Given the description of an element on the screen output the (x, y) to click on. 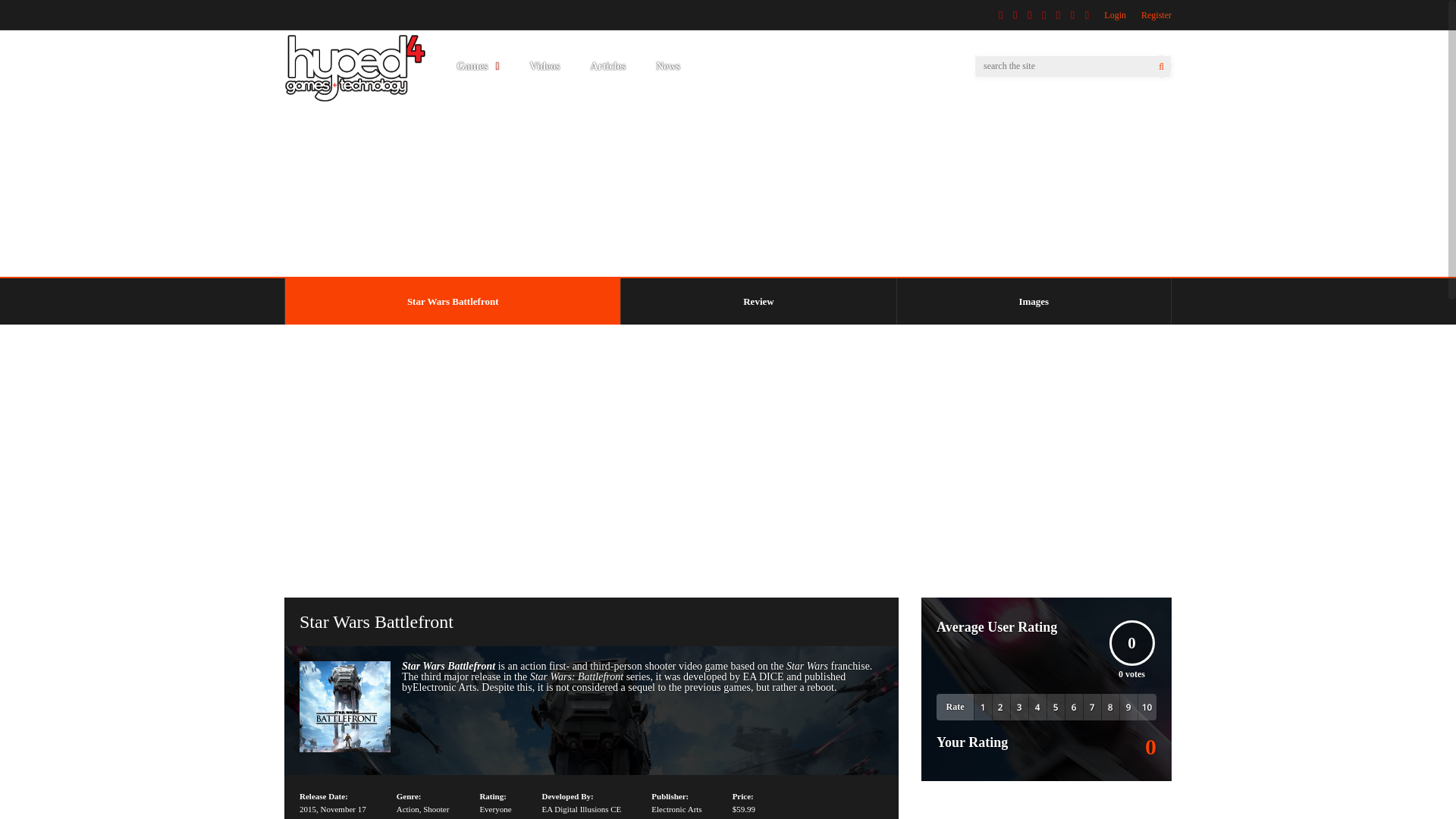
Games (478, 66)
Register (1156, 15)
Hyped4 (354, 99)
